Given the description of an element on the screen output the (x, y) to click on. 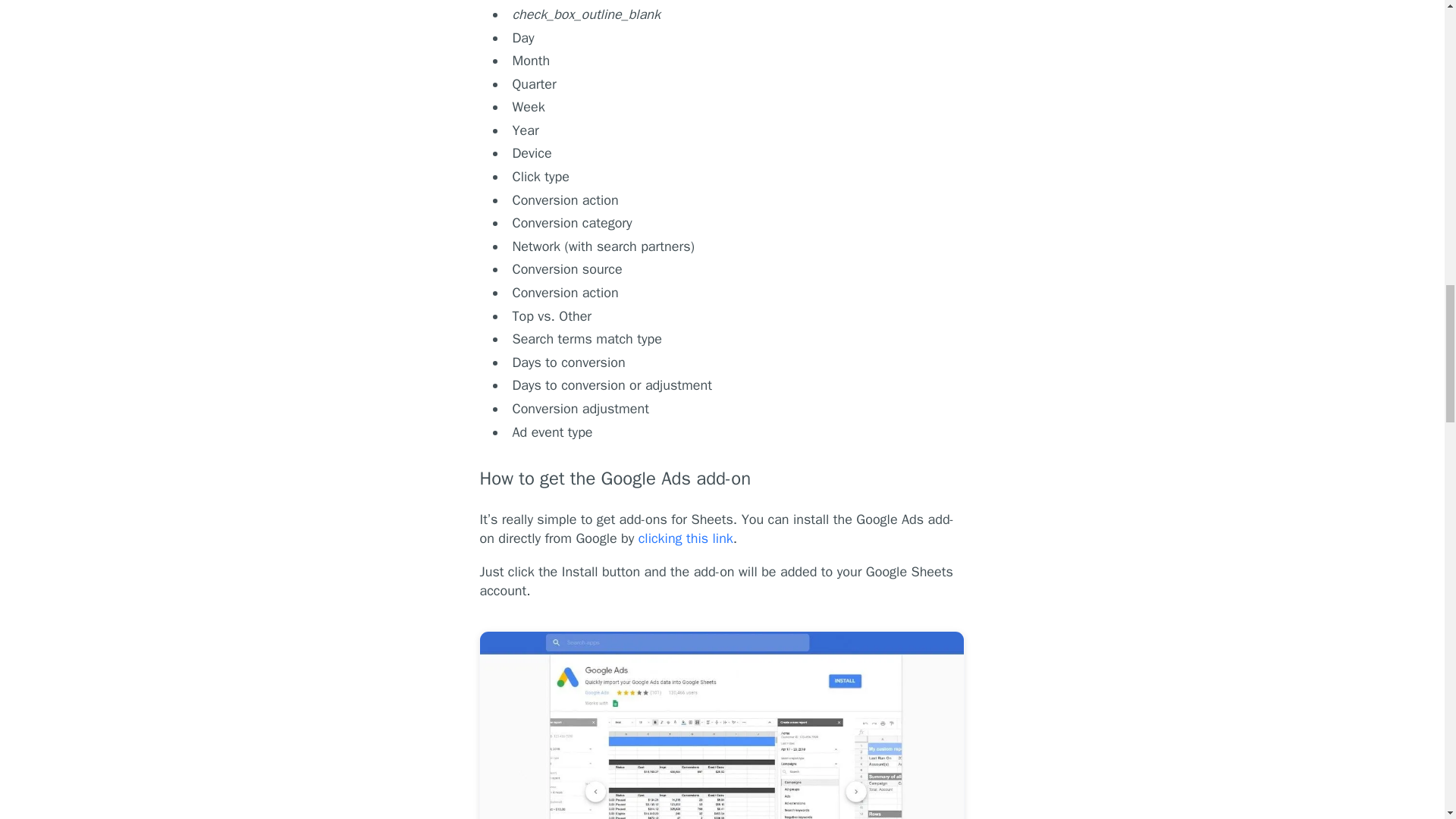
clicking this link (683, 538)
